Given the description of an element on the screen output the (x, y) to click on. 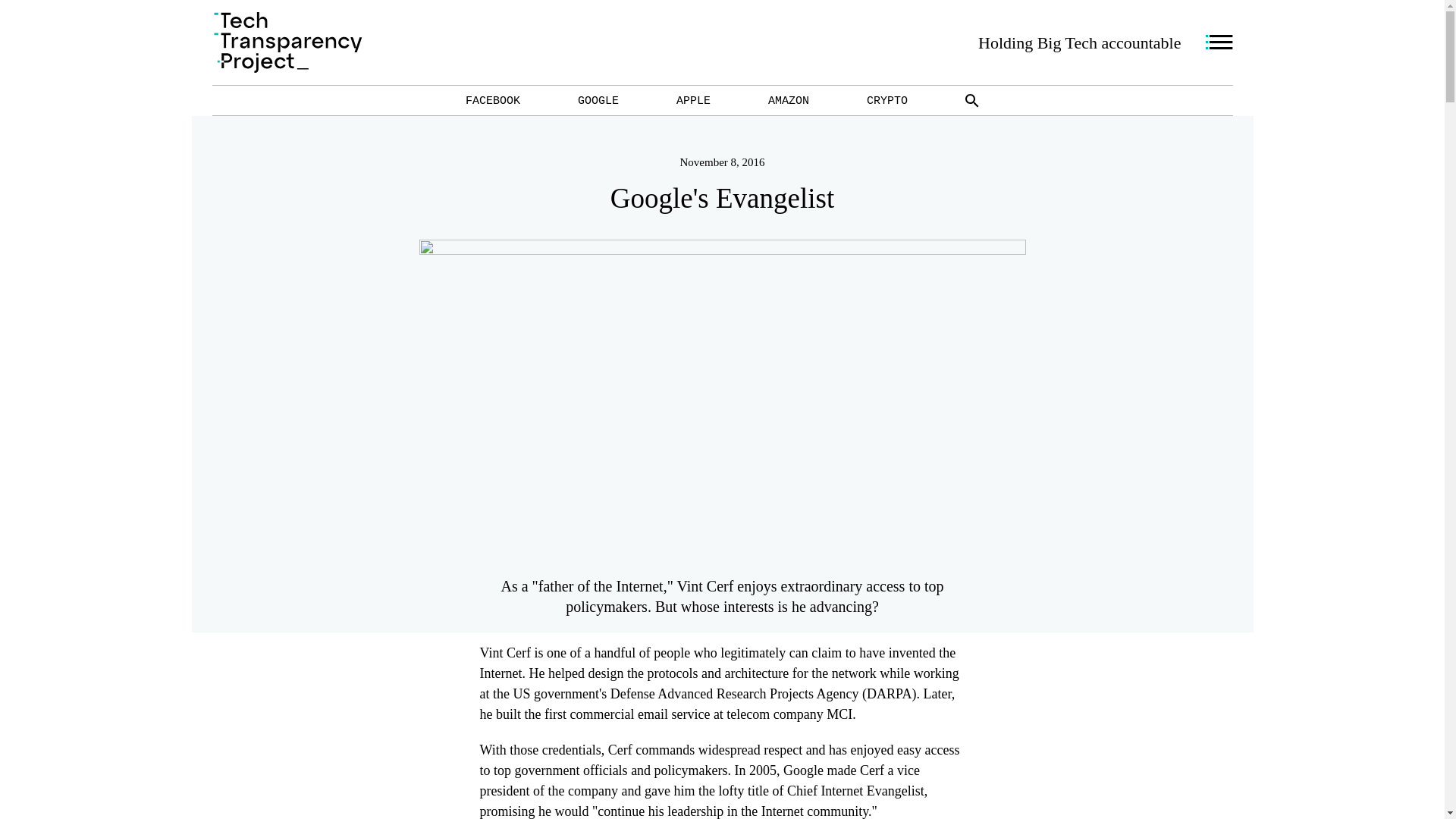
CRYPTO (886, 100)
AMAZON (788, 100)
FACEBOOK (492, 100)
APPLE (693, 100)
GOOGLE (598, 100)
